Given the description of an element on the screen output the (x, y) to click on. 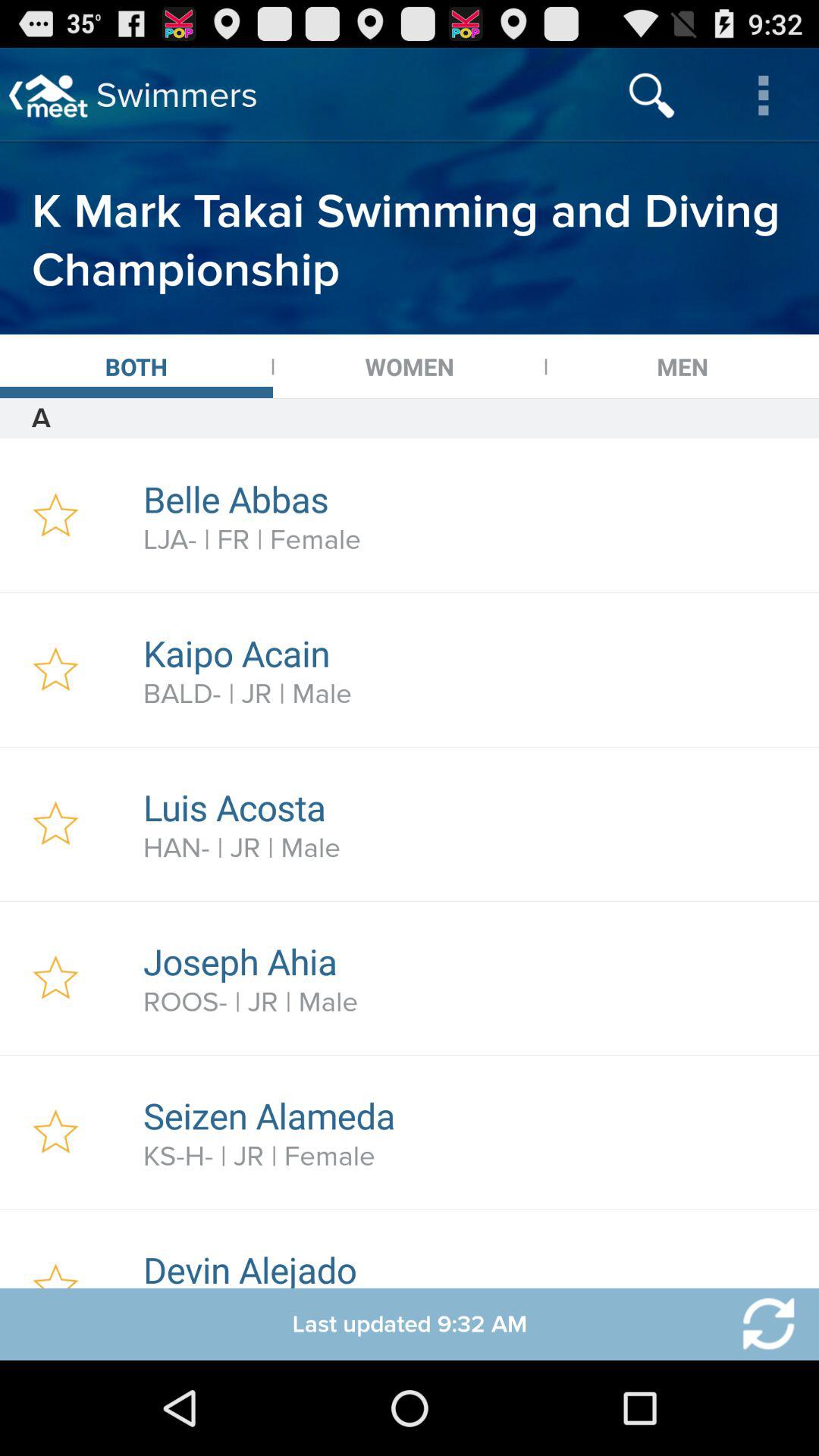
press the icon next to the women app (136, 366)
